Given the description of an element on the screen output the (x, y) to click on. 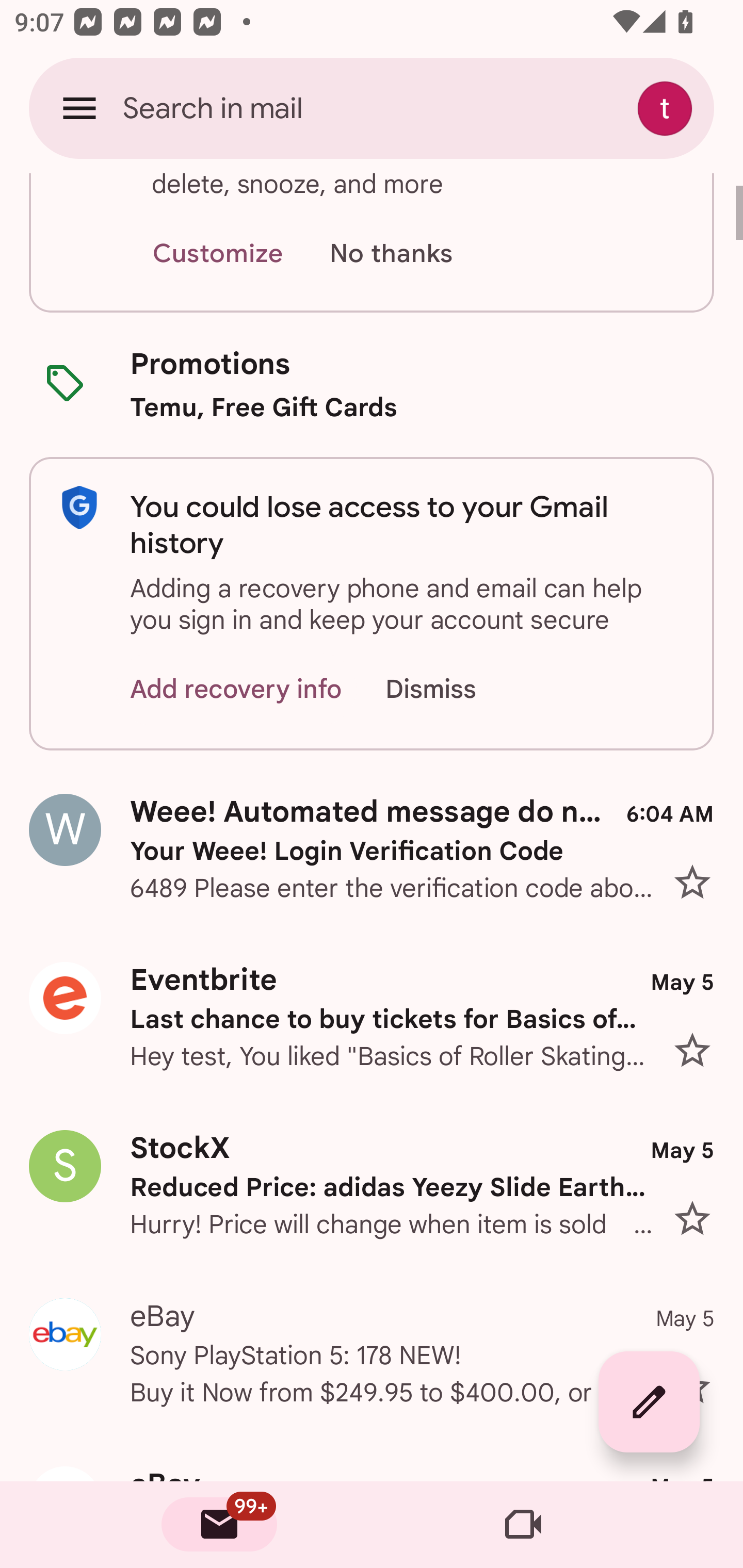
Open navigation drawer (79, 108)
Customize (217, 253)
No thanks (390, 253)
Promotions Temu, Free Gift Cards (371, 384)
Add recovery info (235, 689)
Dismiss (449, 689)
Compose (648, 1401)
Meet (523, 1524)
